Given the description of an element on the screen output the (x, y) to click on. 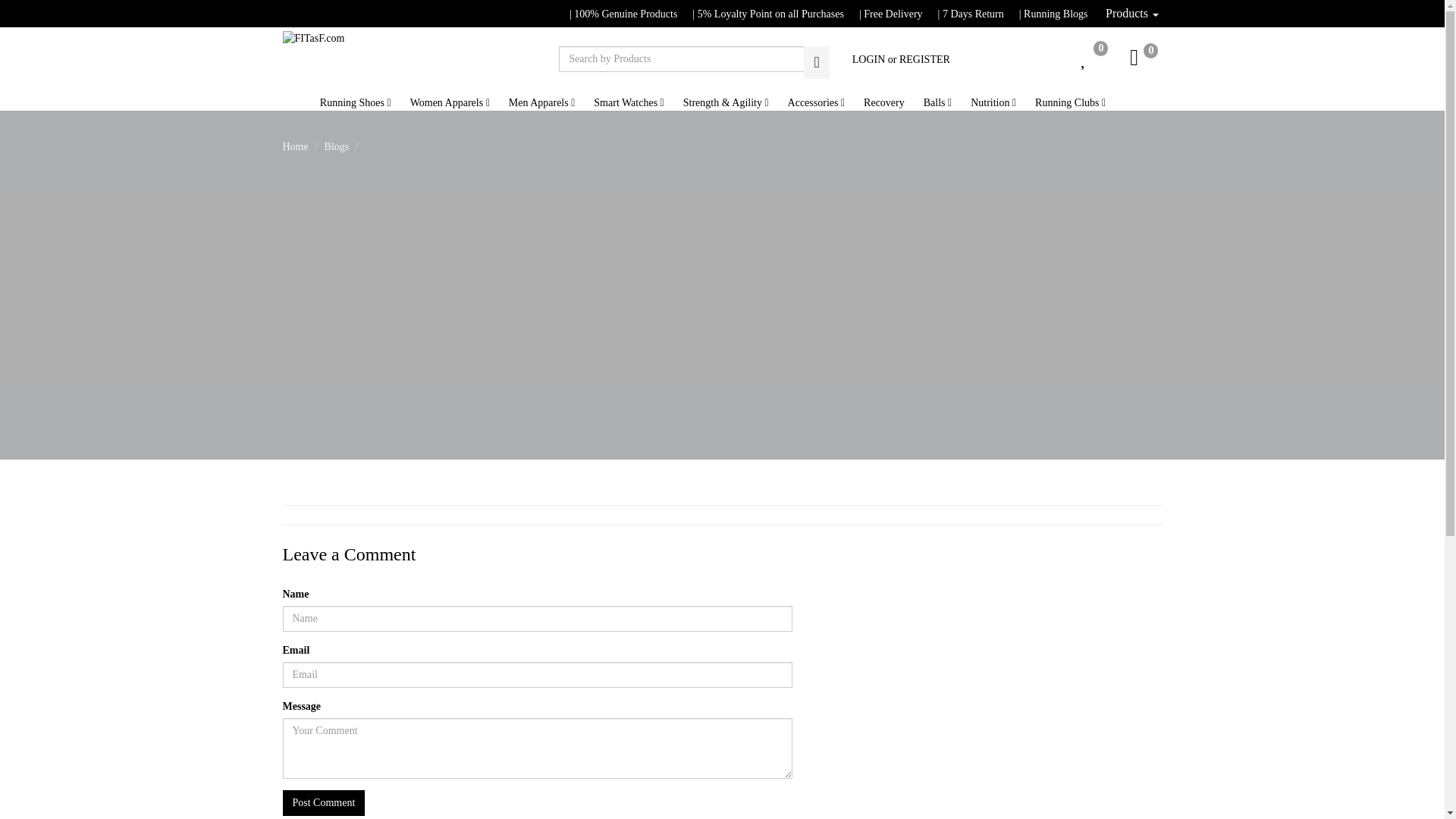
Products (1131, 13)
LOGIN or (872, 59)
REGISTER (924, 59)
Running Shoes (365, 102)
0 (1128, 61)
Women Apparels (459, 102)
FITasF.com (312, 38)
0 (1075, 61)
Men Apparels (551, 102)
